Given the description of an element on the screen output the (x, y) to click on. 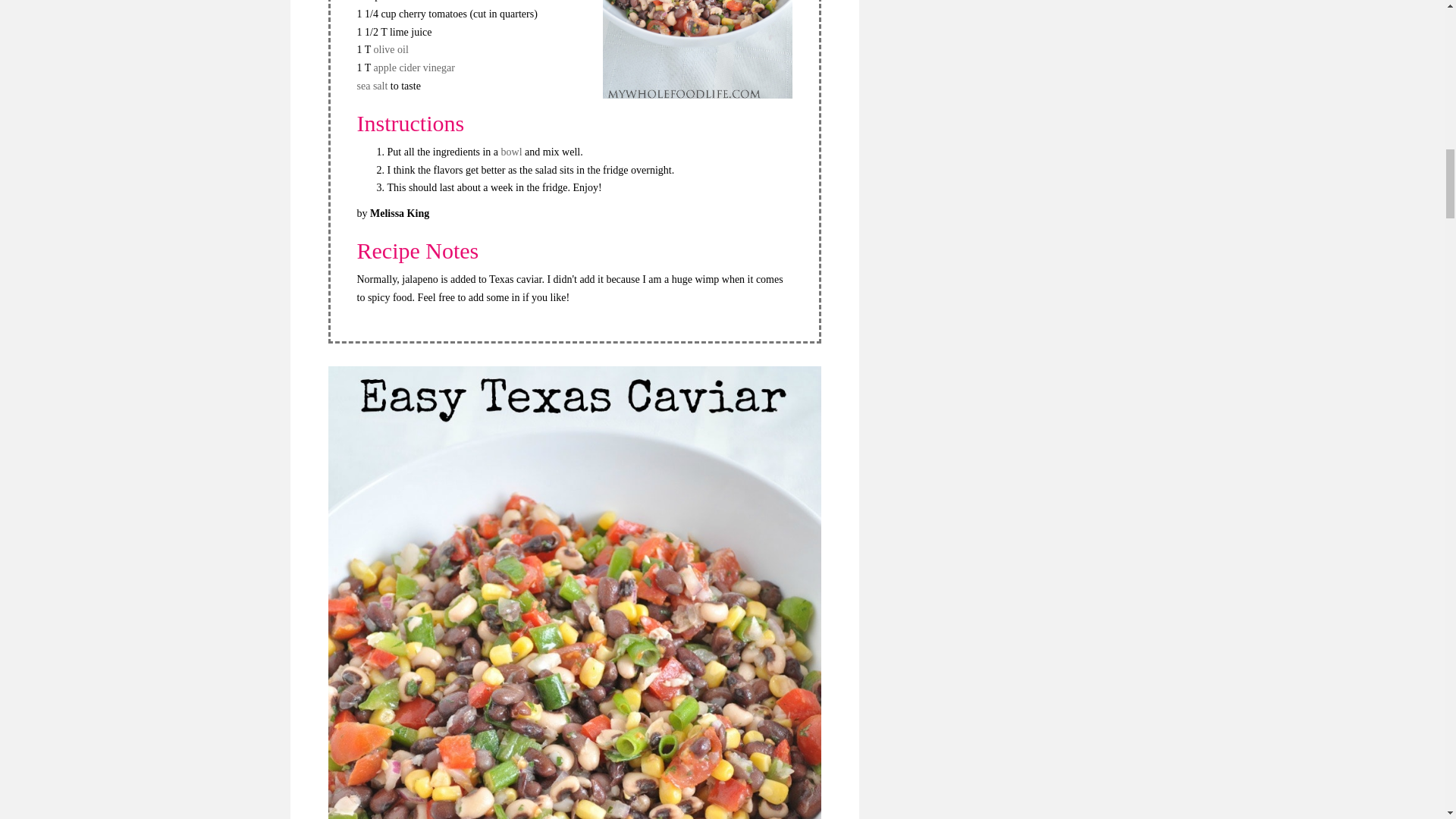
olive oil (391, 49)
apple cider vinegar (414, 67)
sea salt (373, 85)
bowl (512, 152)
